Given the description of an element on the screen output the (x, y) to click on. 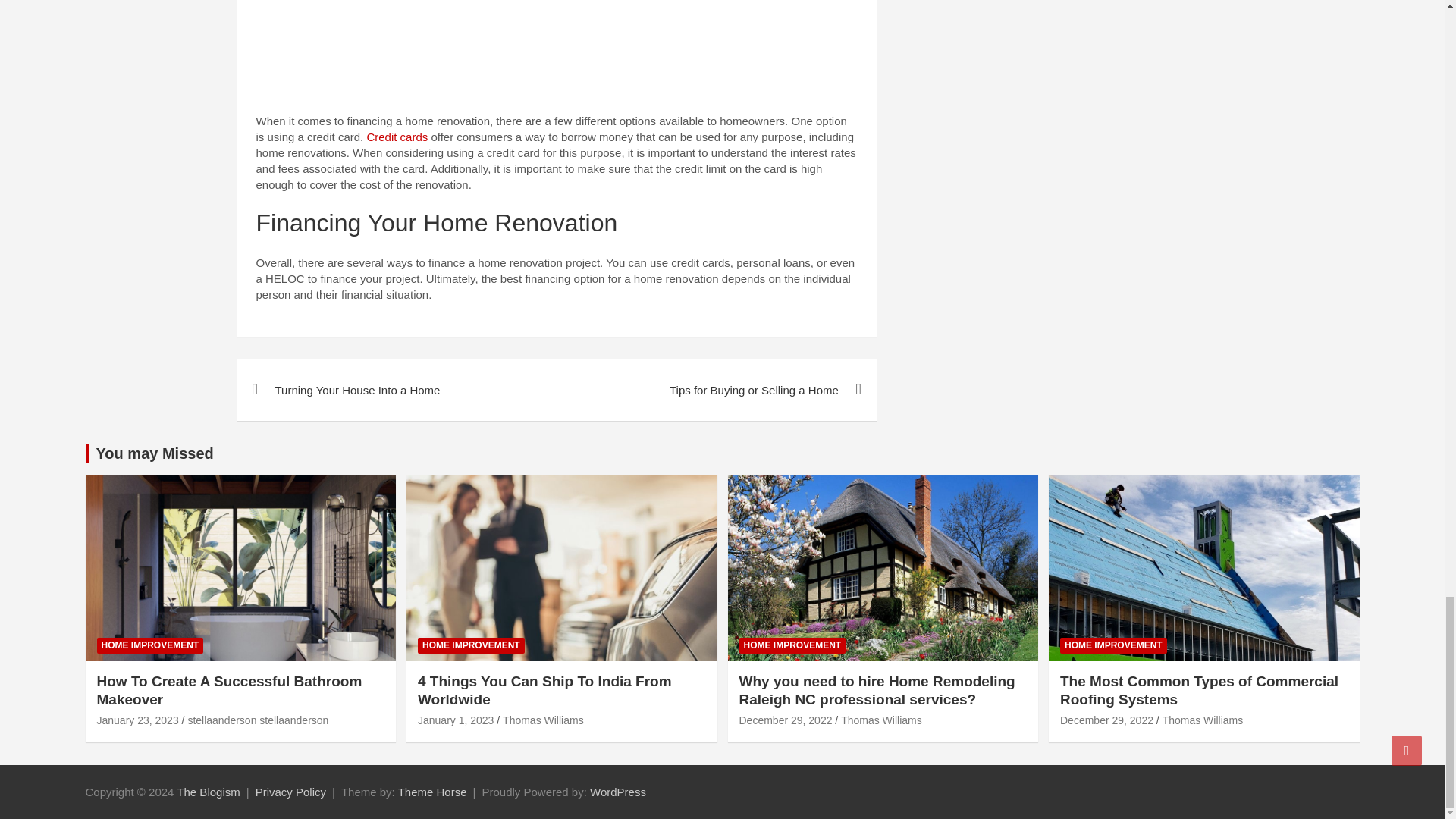
4 Things You Can Ship To India From Worldwide (455, 720)
The Blogism (208, 791)
WordPress (617, 791)
The Most Common Types of Commercial Roofing Systems (1106, 720)
Theme Horse (432, 791)
How To Create A Successful Bathroom Makeover (138, 720)
